Given the description of an element on the screen output the (x, y) to click on. 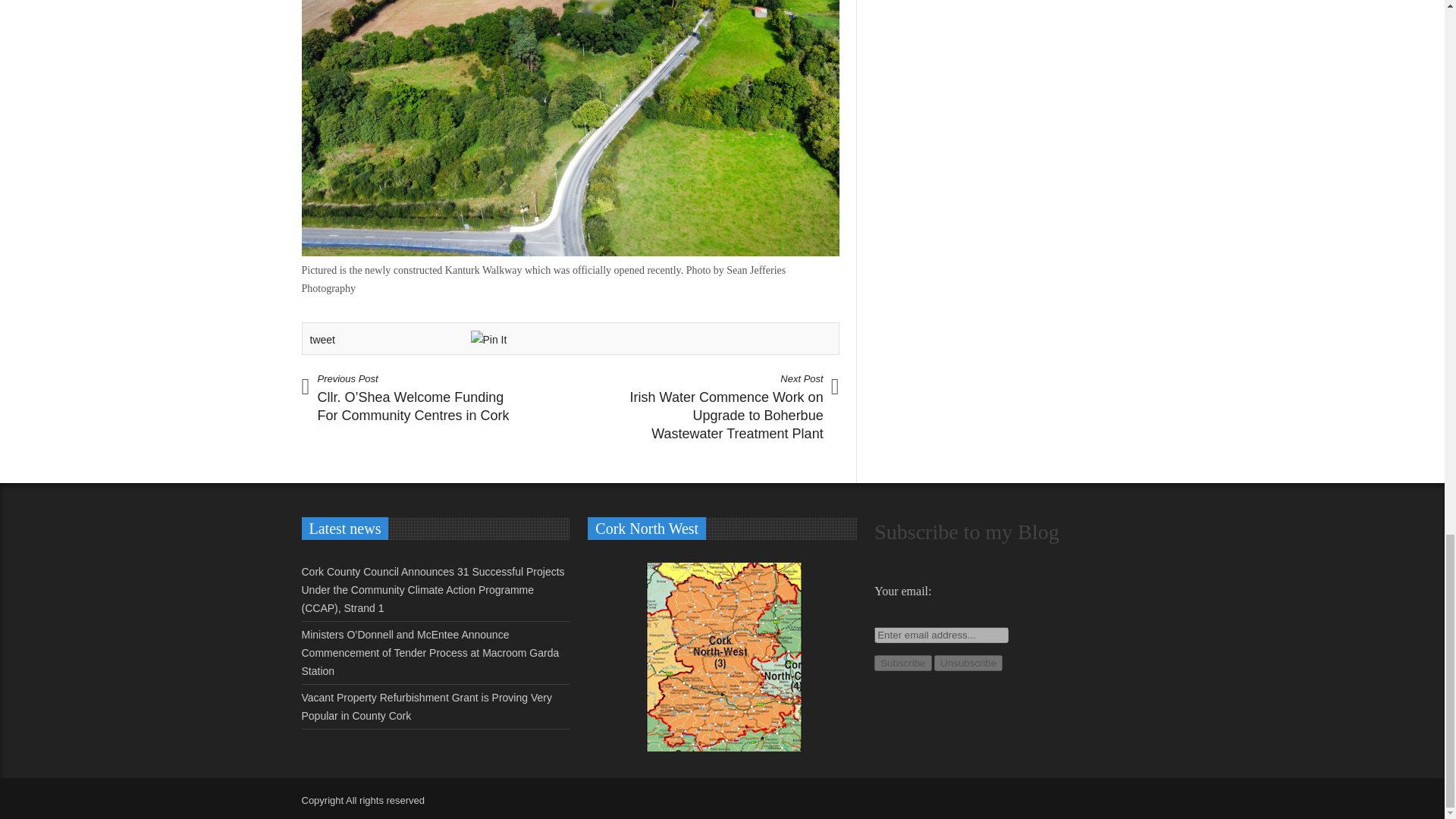
tweet (321, 339)
Subscribe (903, 662)
Unsubscribe (968, 662)
Enter email address... (942, 634)
Subscribe (903, 662)
Pin It (488, 339)
